Given the description of an element on the screen output the (x, y) to click on. 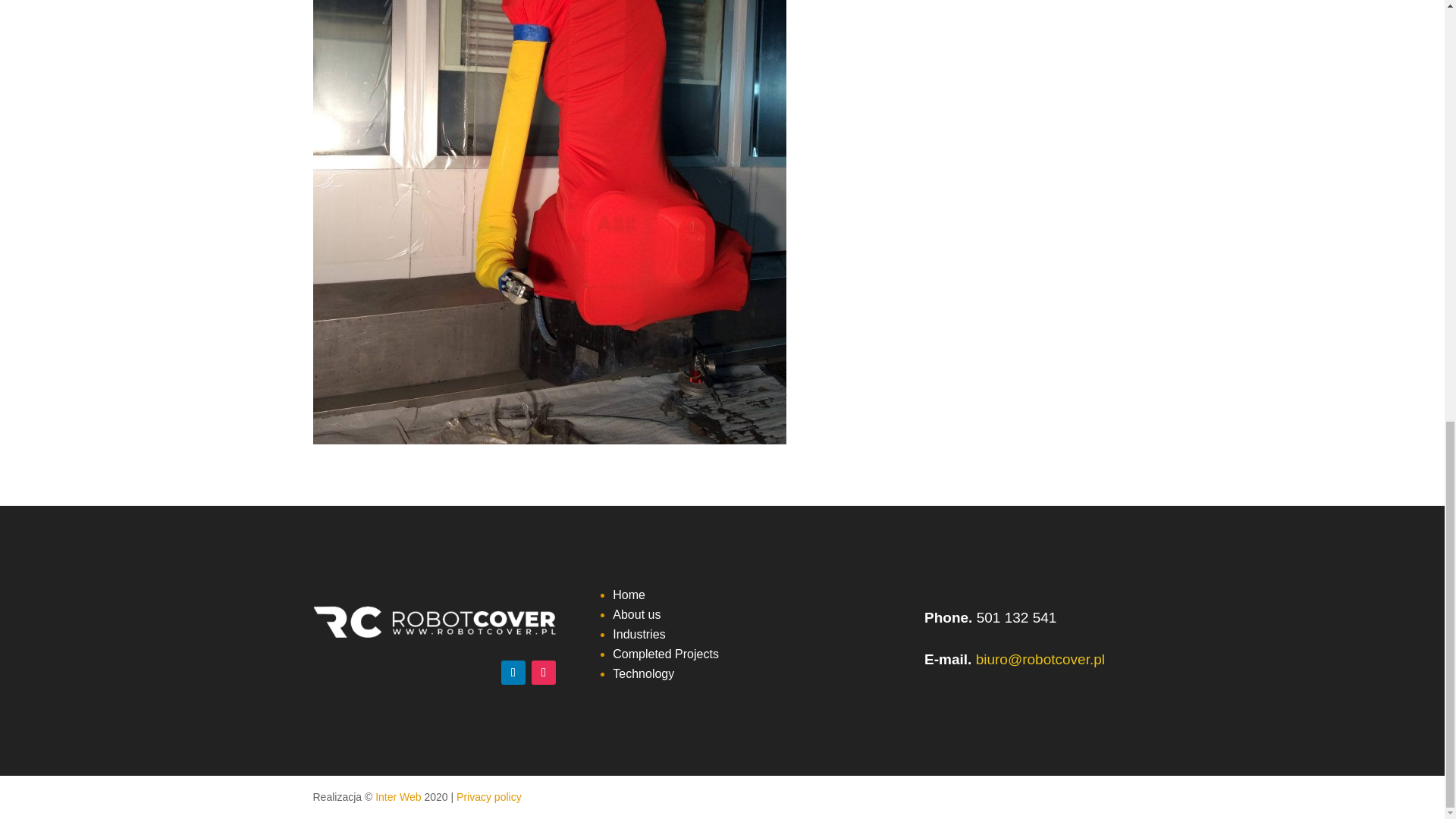
Inter Web (397, 797)
Privacy policy (489, 797)
logo-1 (433, 622)
Technology (643, 673)
Industries (638, 634)
Home (628, 594)
Follow on Instagram (543, 672)
Follow on LinkedIn (512, 672)
About us (636, 614)
